Given the description of an element on the screen output the (x, y) to click on. 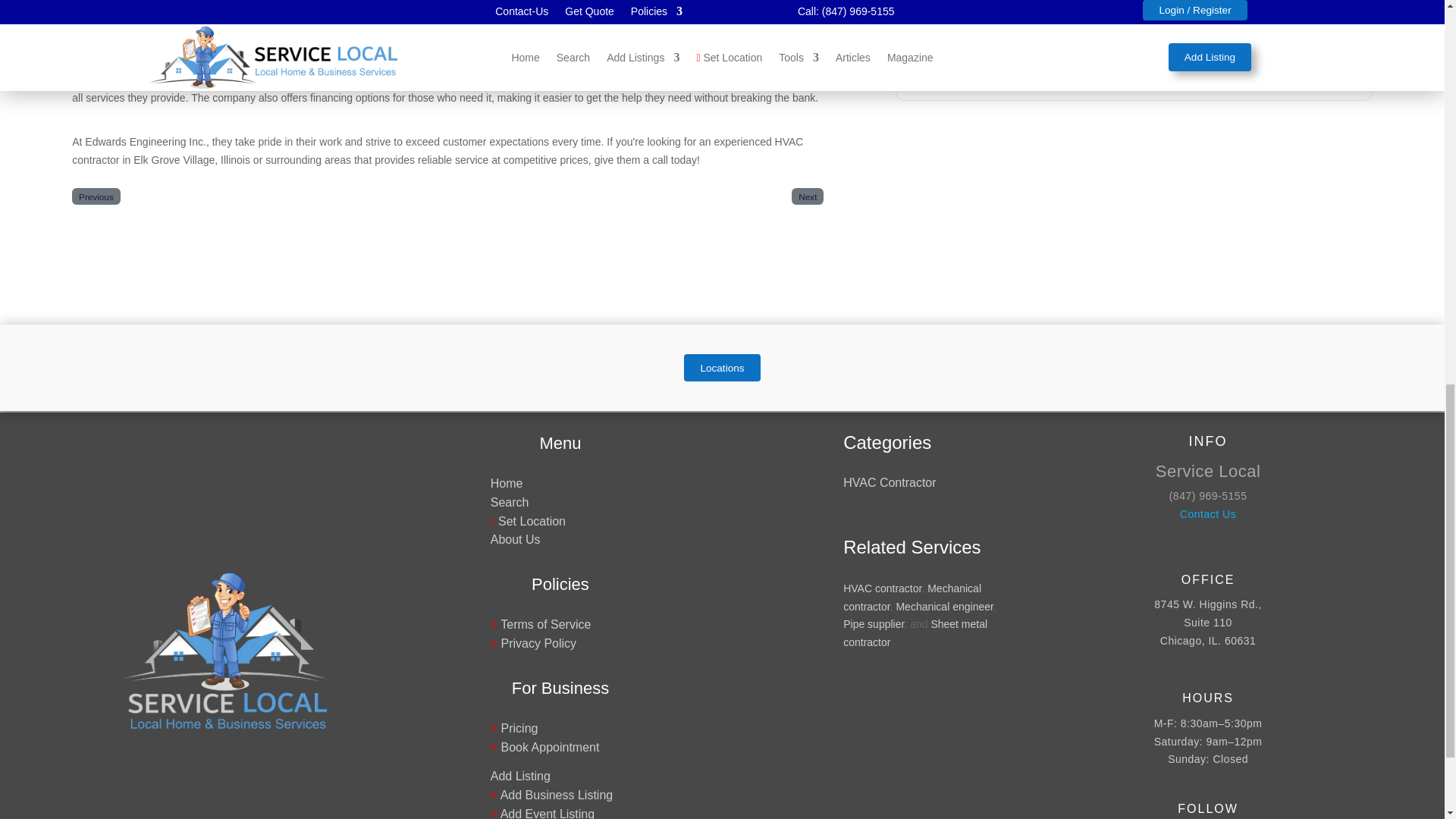
Footer Logo (225, 650)
